Given the description of an element on the screen output the (x, y) to click on. 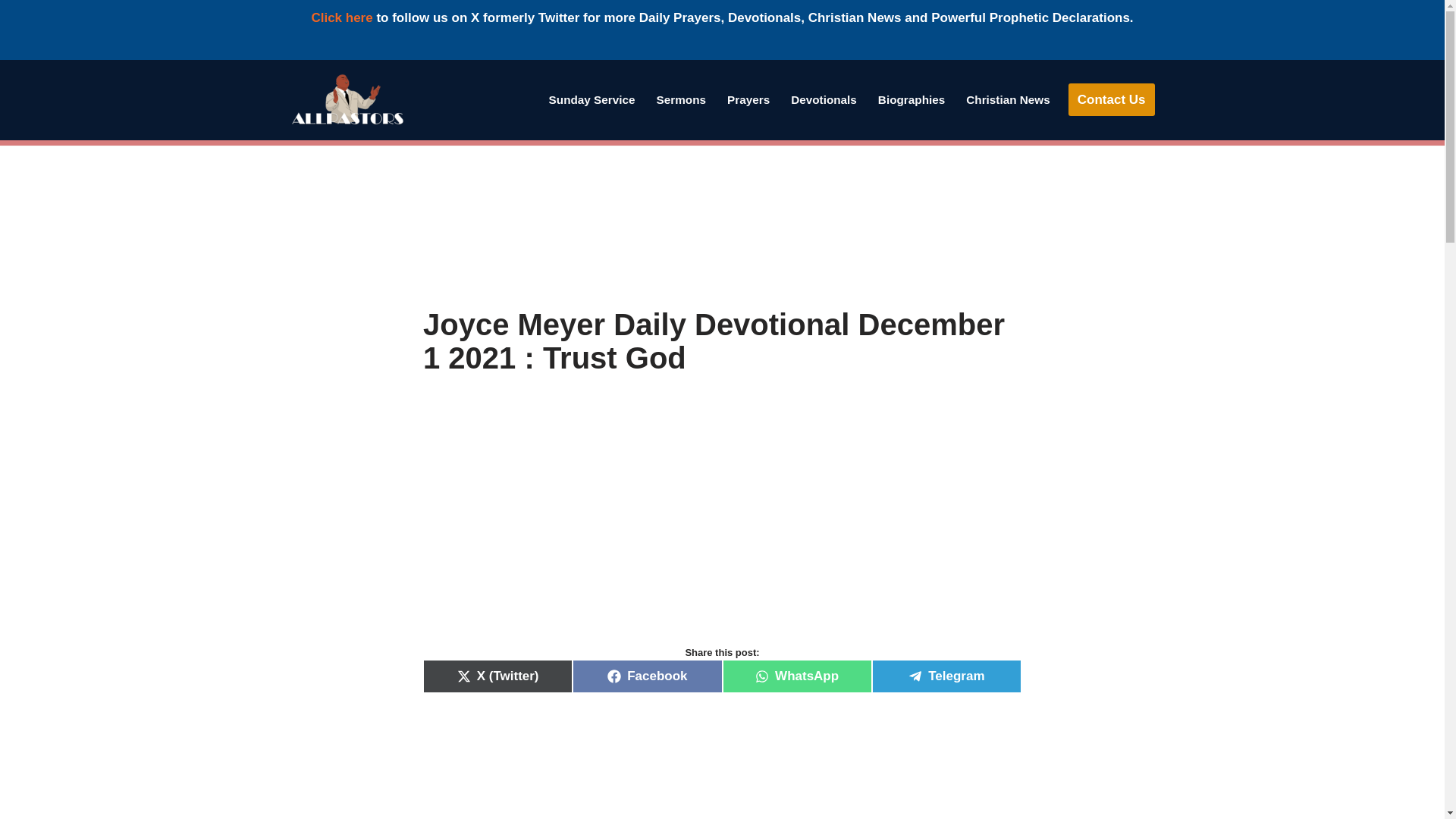
Facebook (647, 676)
Prayers (748, 99)
Devotionals (823, 99)
Contact Us (1111, 99)
Advertisement (722, 226)
SERMONS ONLINE (681, 99)
Christian News (1007, 99)
Telegram (947, 676)
Click here (341, 17)
Advertisement (722, 762)
Sermons (681, 99)
Advertisement (722, 526)
Skip to content (11, 91)
Biographies (910, 99)
WhatsApp (796, 676)
